Given the description of an element on the screen output the (x, y) to click on. 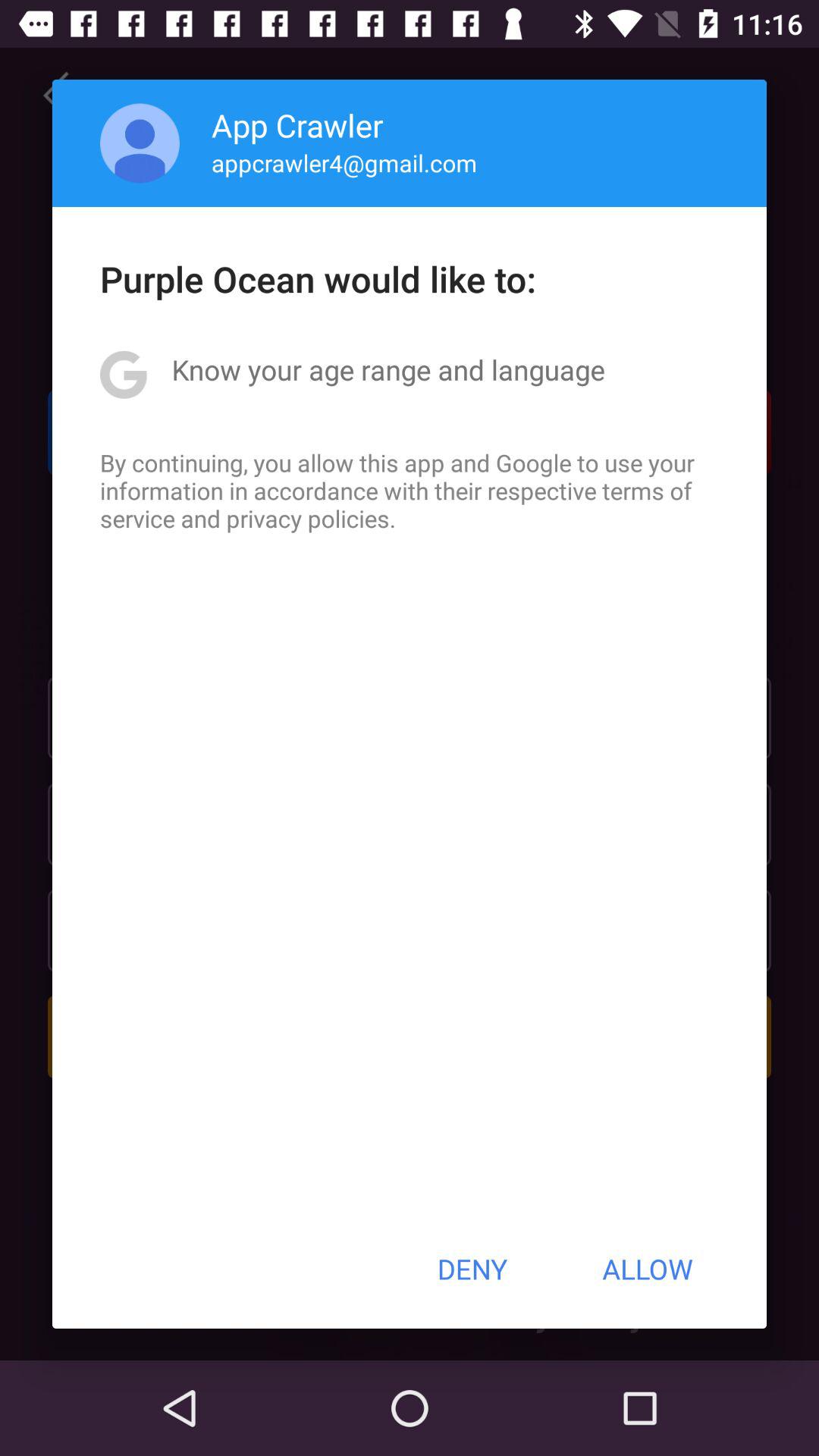
flip to the deny button (471, 1268)
